Given the description of an element on the screen output the (x, y) to click on. 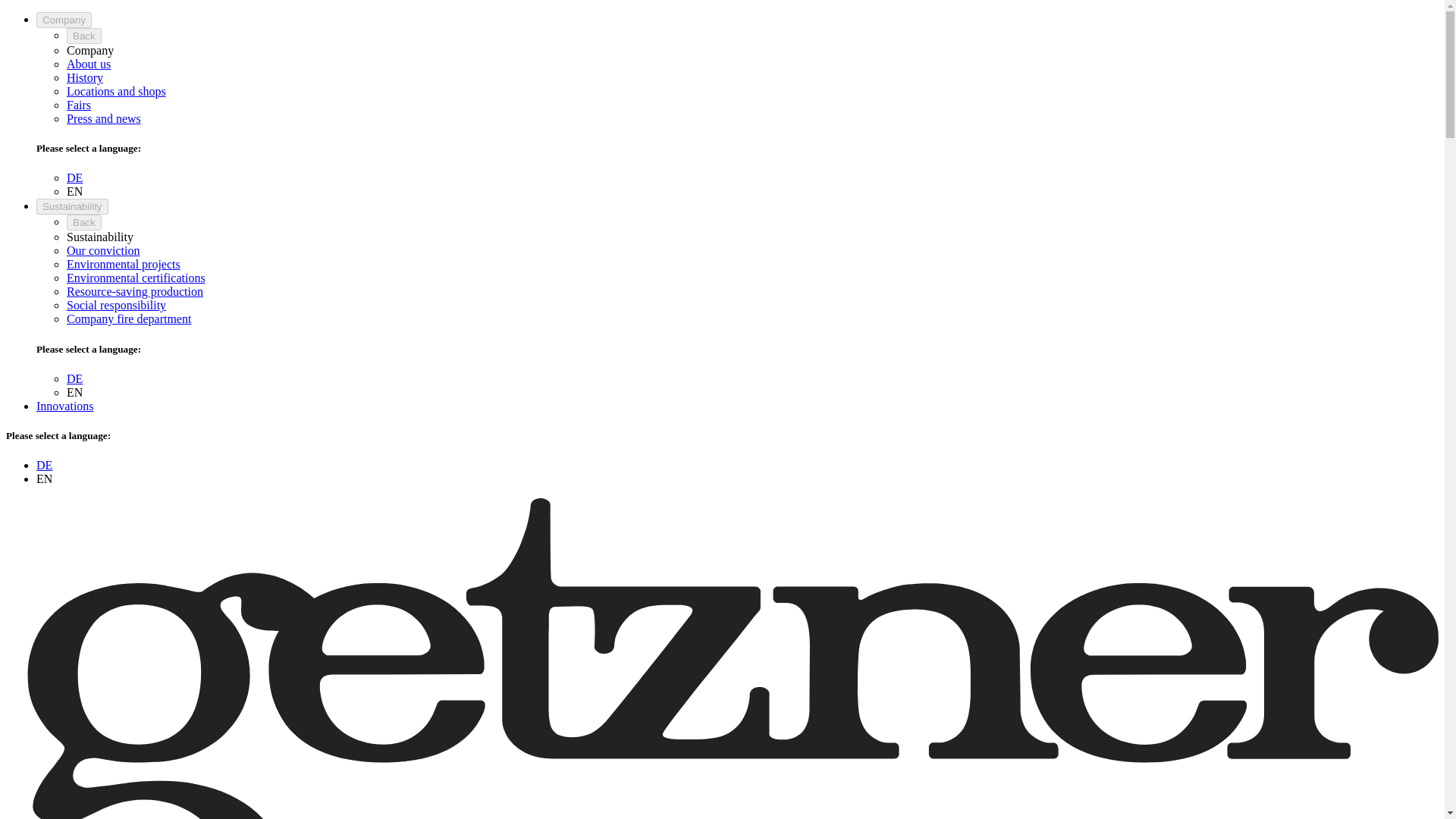
Fairs (78, 104)
Our conviction (102, 250)
Locations and shops (115, 91)
Company (63, 19)
Environmental certifications (135, 277)
DE (44, 464)
Back (83, 222)
Resource-saving production (134, 291)
DE (74, 177)
History (84, 77)
